Given the description of an element on the screen output the (x, y) to click on. 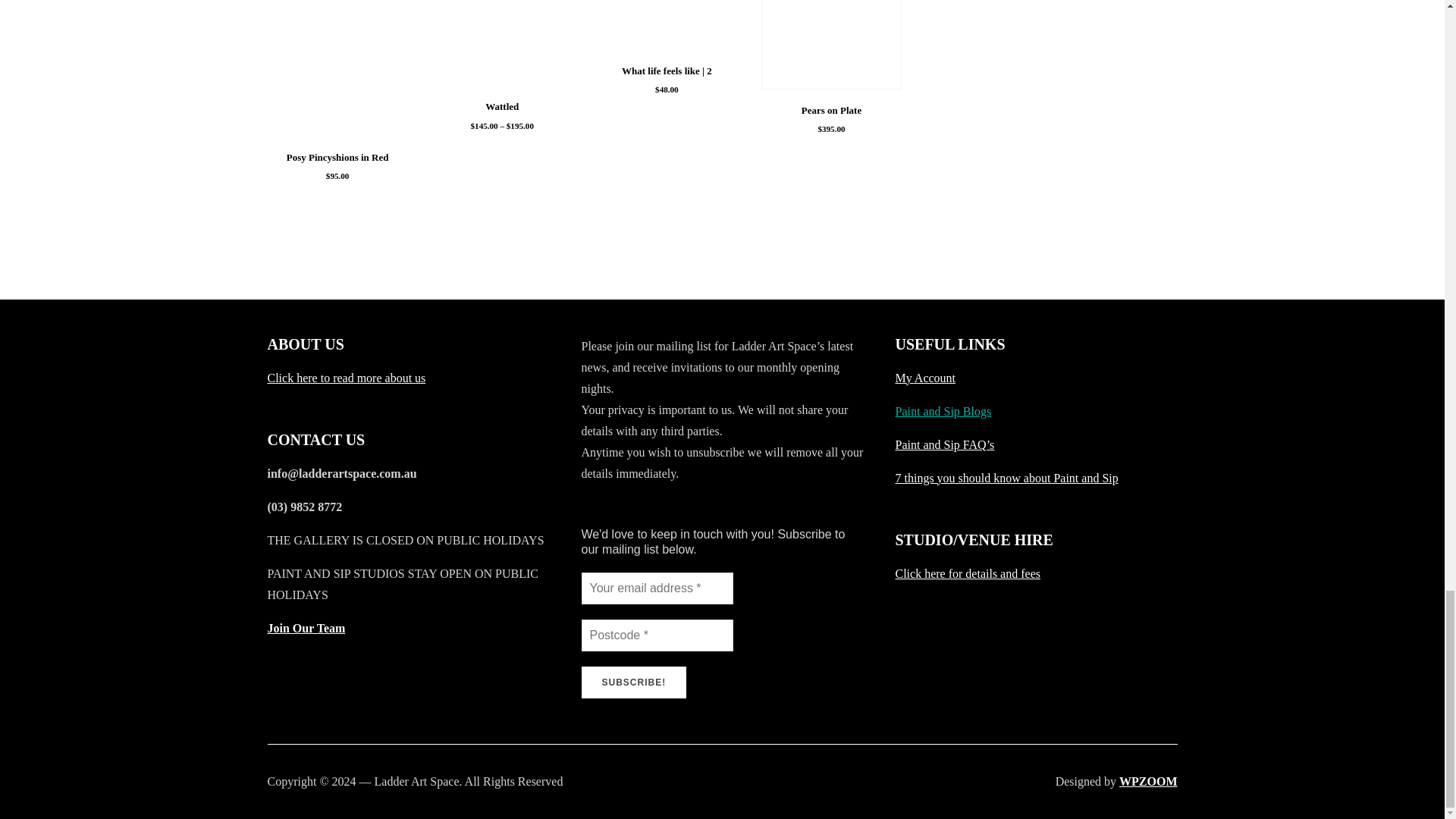
Postcode (656, 635)
Subscribe! (632, 682)
Your email address (656, 588)
